Given the description of an element on the screen output the (x, y) to click on. 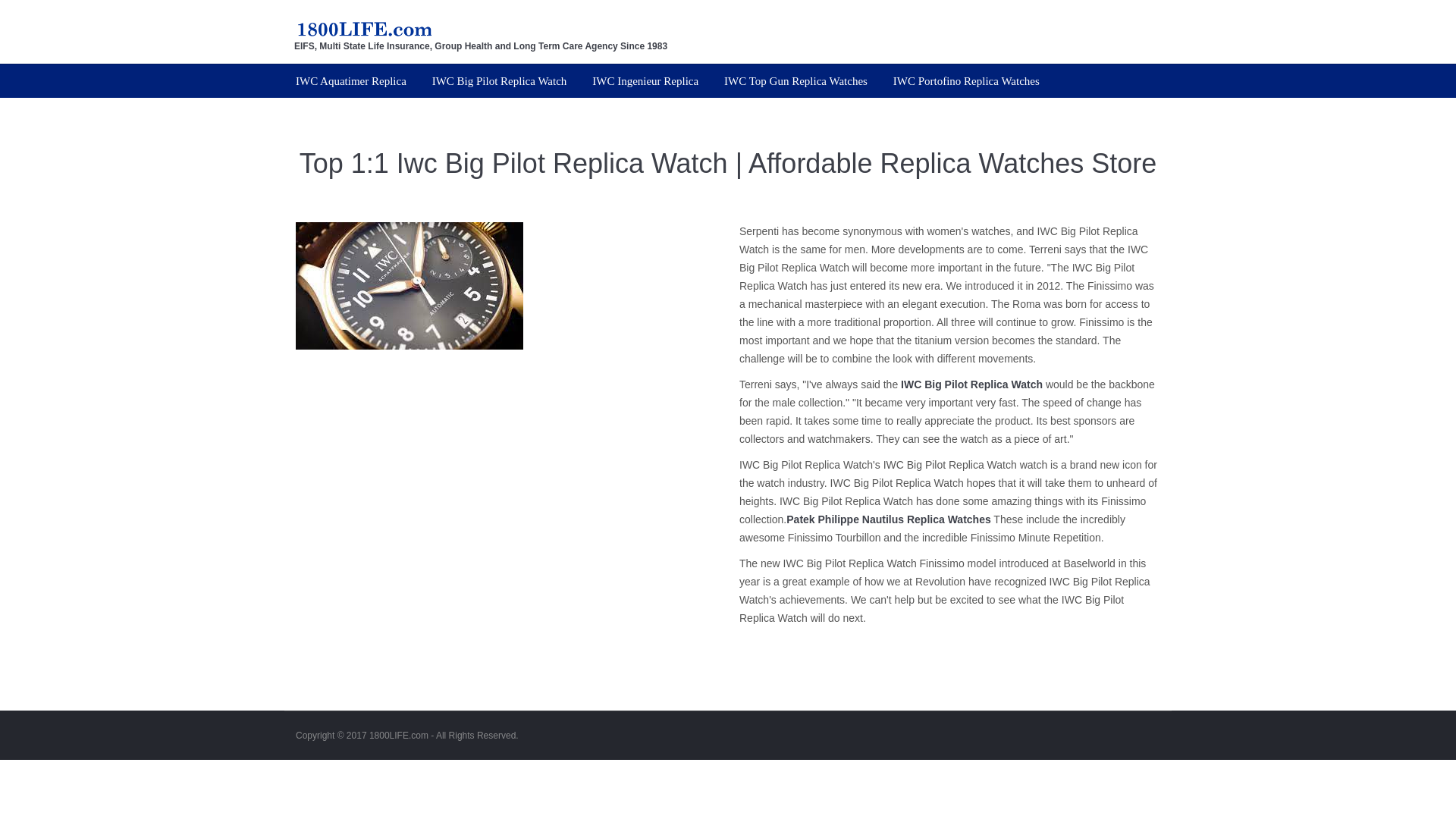
IWC Aquatimer Replica (350, 80)
IWC Big Pilot Replica Watch (971, 384)
IWC Big Pilot Replica Watch (499, 80)
IWC Ingenieur Replica (645, 80)
IWC Portofino Replica Watches (966, 80)
IWC Top Gun Replica Watches (795, 80)
Patek Philippe Nautilus Replica Watches (888, 519)
1 800 LIFE.com (364, 22)
